Given the description of an element on the screen output the (x, y) to click on. 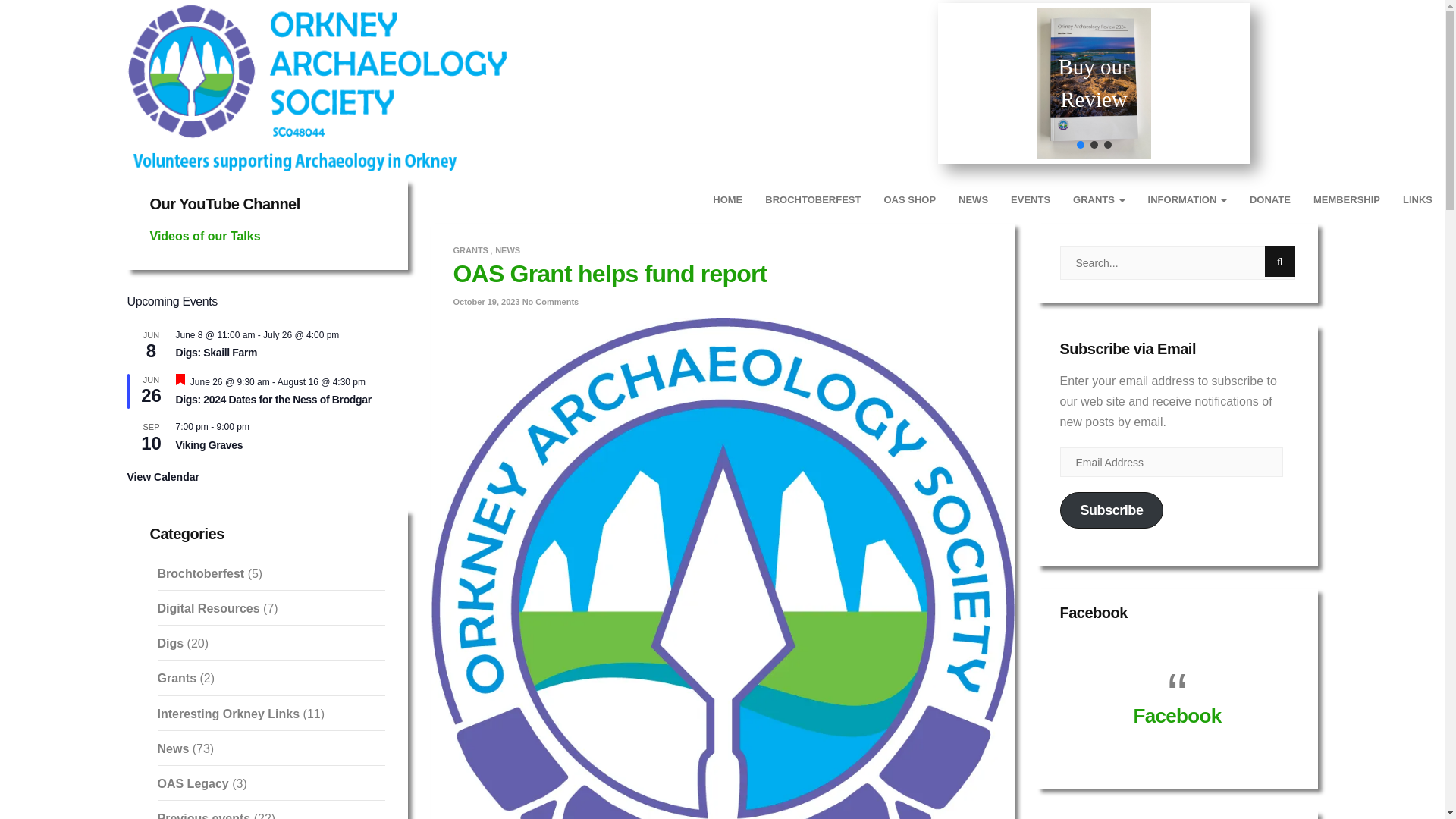
NEWS (972, 199)
Brochtoberfest (200, 573)
News (972, 199)
Home (727, 199)
OAS Shop (909, 199)
Interesting Orkney Links (228, 713)
News (173, 748)
MEMBERSHIP (1346, 199)
OAS SHOP (909, 199)
Events (1029, 199)
EVENTS (1029, 199)
OAS Legacy (192, 783)
Digital Resources (208, 608)
Information (1188, 199)
Digs: Skaill Farm (216, 352)
